Given the description of an element on the screen output the (x, y) to click on. 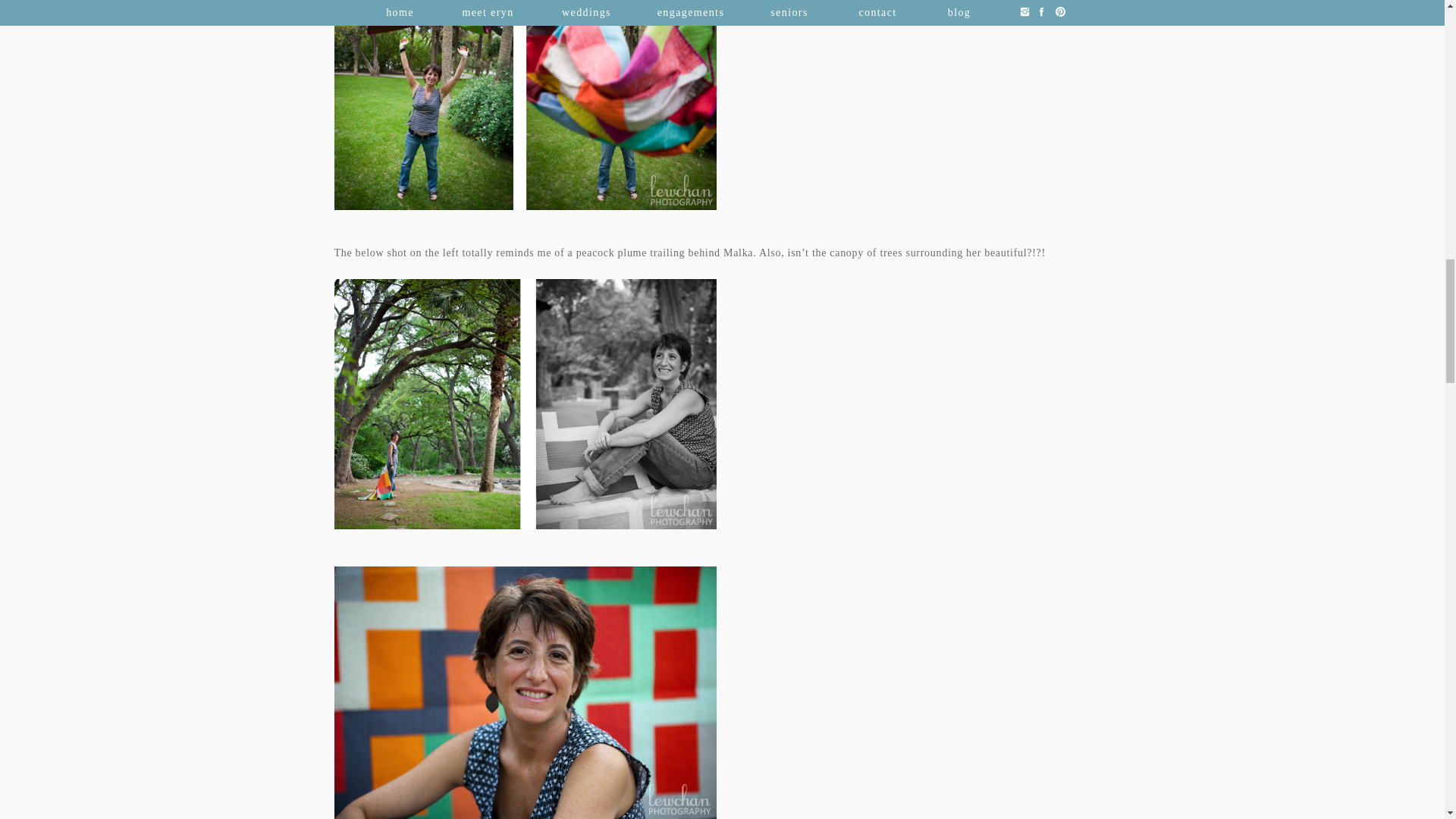
4 (524, 404)
5 (524, 692)
3 (524, 104)
